Given the description of an element on the screen output the (x, y) to click on. 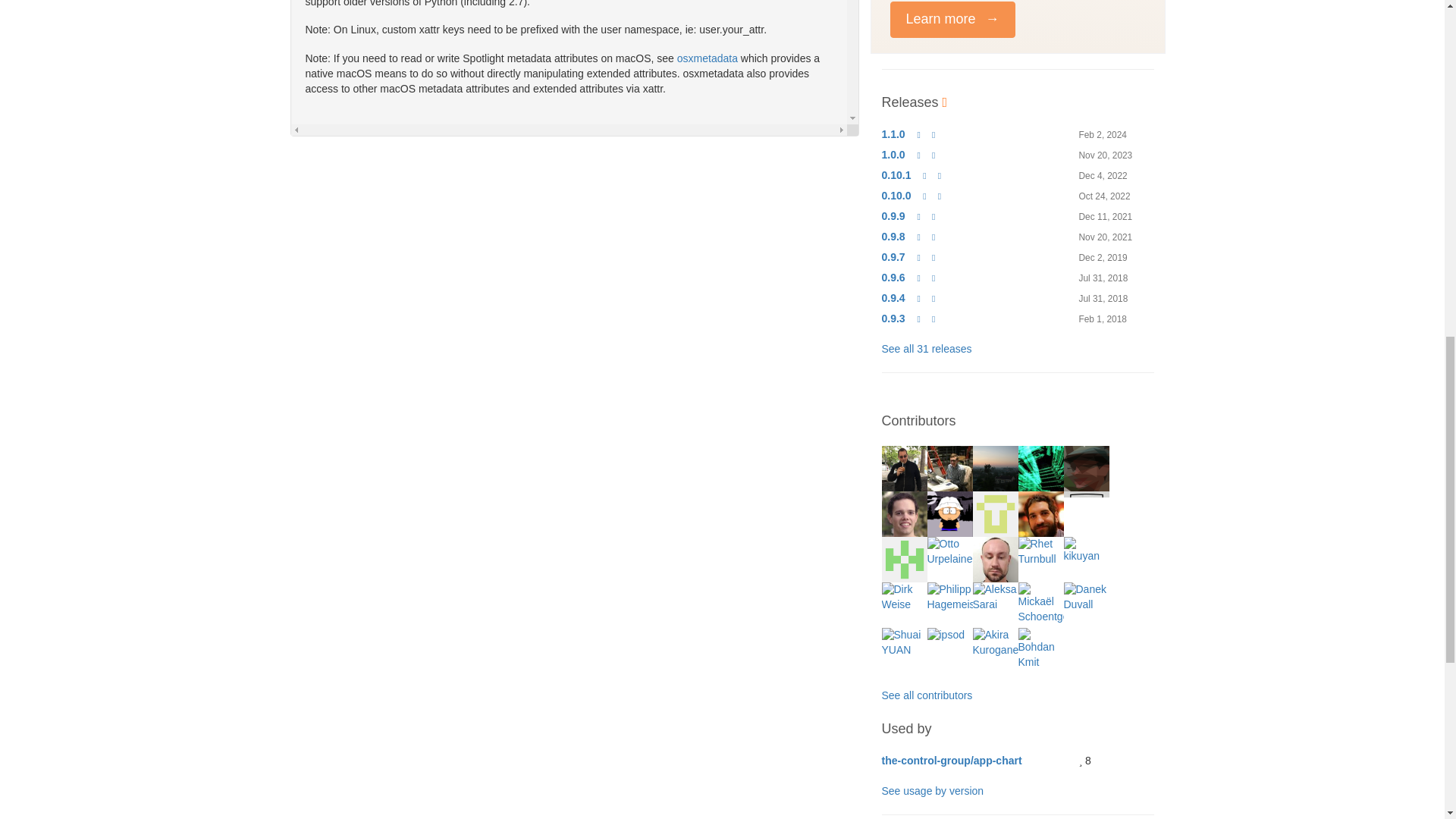
1.1.0 (892, 133)
osxmetadata (707, 58)
